Given the description of an element on the screen output the (x, y) to click on. 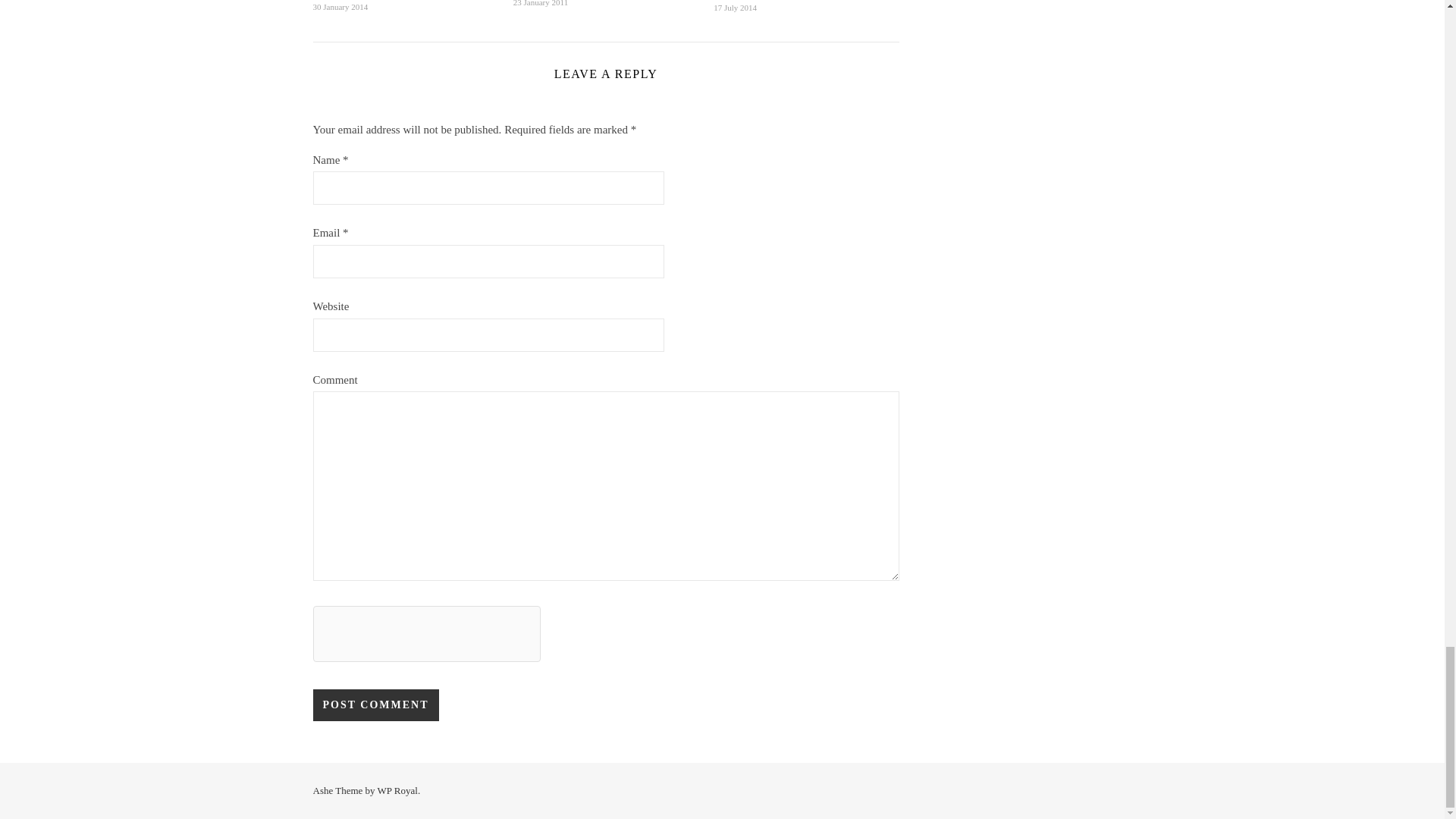
Post Comment (375, 705)
Post Comment (375, 705)
